Given the description of an element on the screen output the (x, y) to click on. 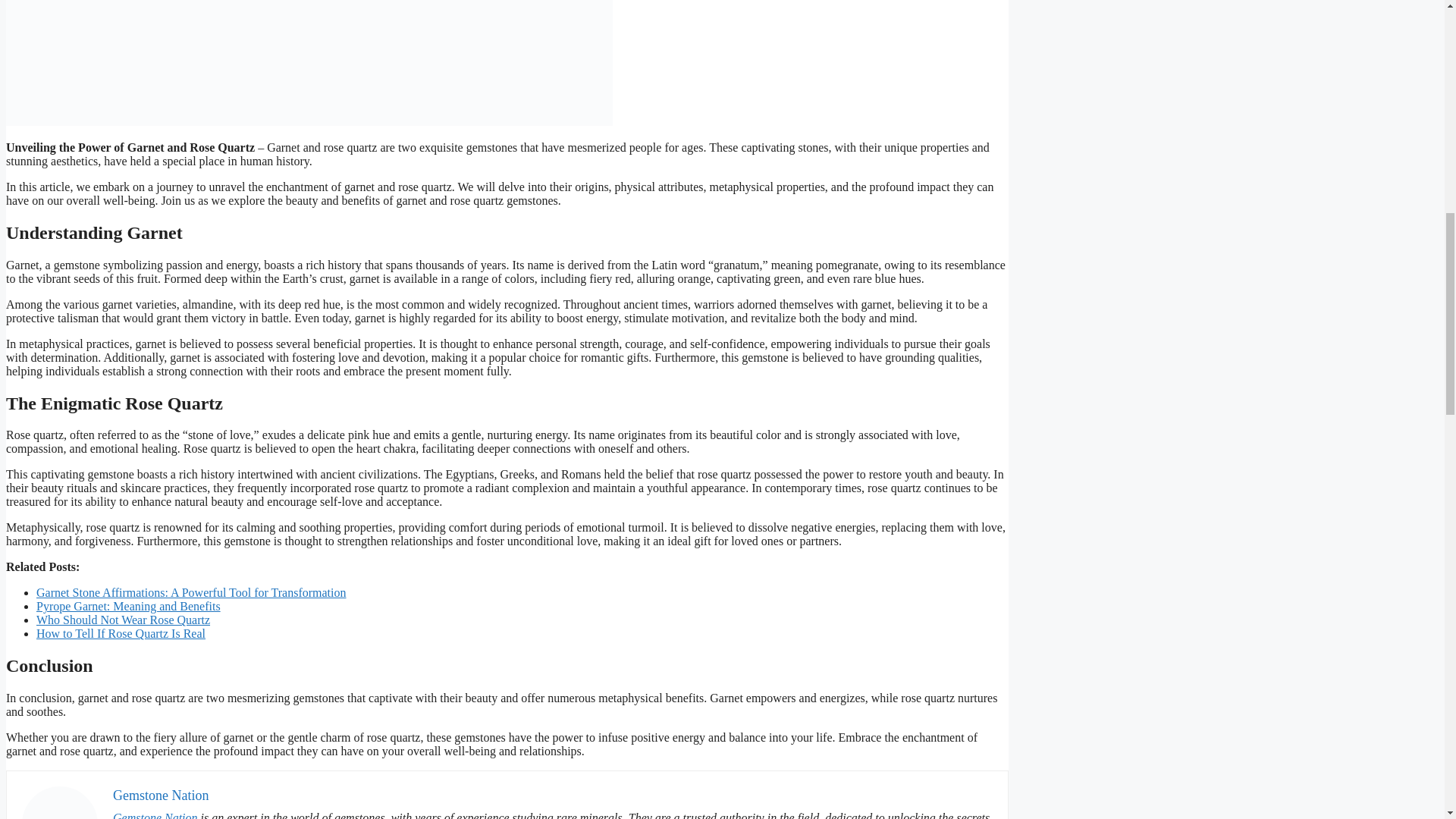
How to Tell If Rose Quartz Is Real (120, 633)
Pyrope Garnet: Meaning and Benefits (128, 605)
Gemstone Nation (160, 795)
Gemstone Nation (155, 815)
Who Should Not Wear Rose Quartz (122, 619)
